Given the description of an element on the screen output the (x, y) to click on. 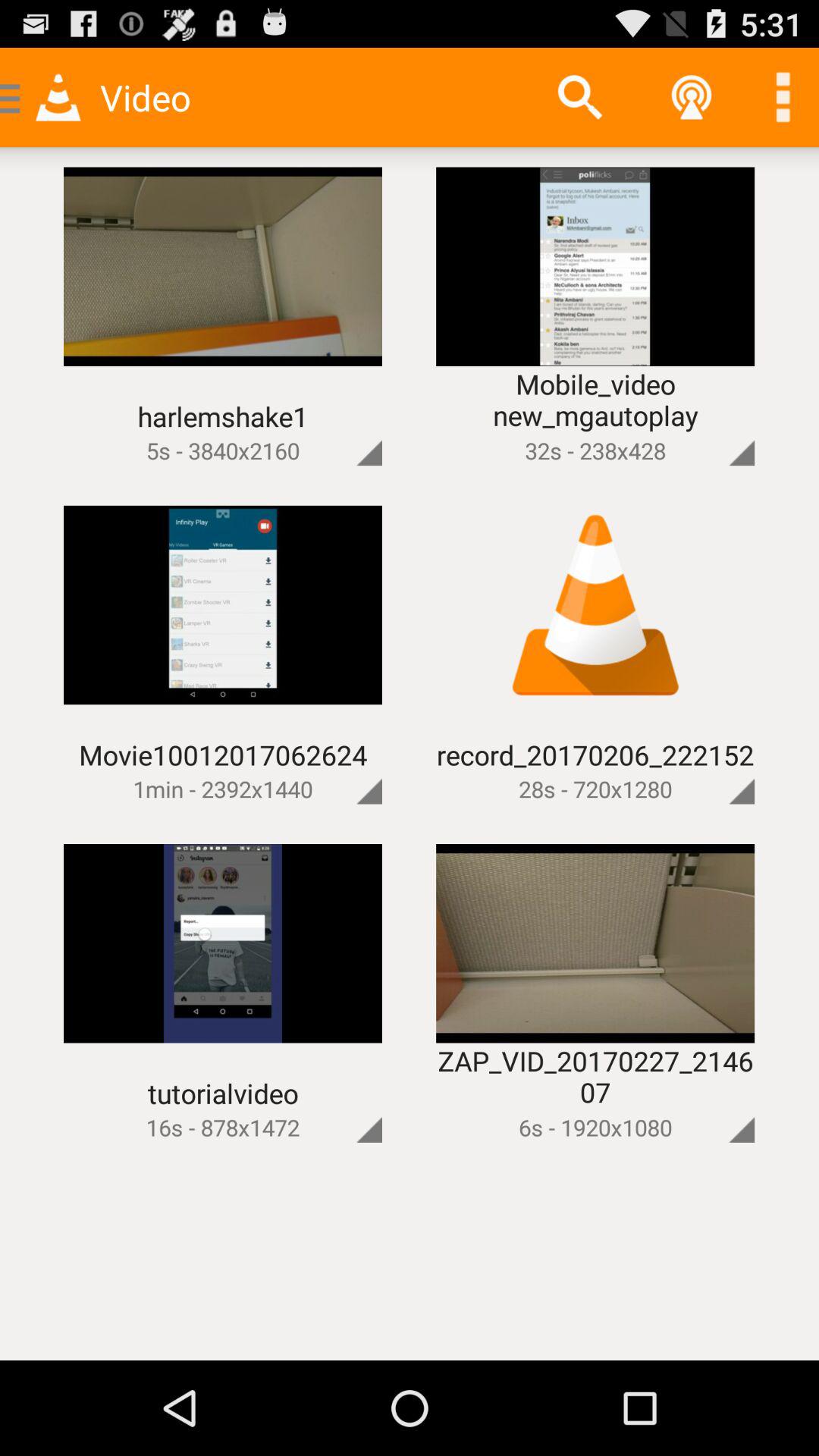
toggle a select option (343, 427)
